Given the description of an element on the screen output the (x, y) to click on. 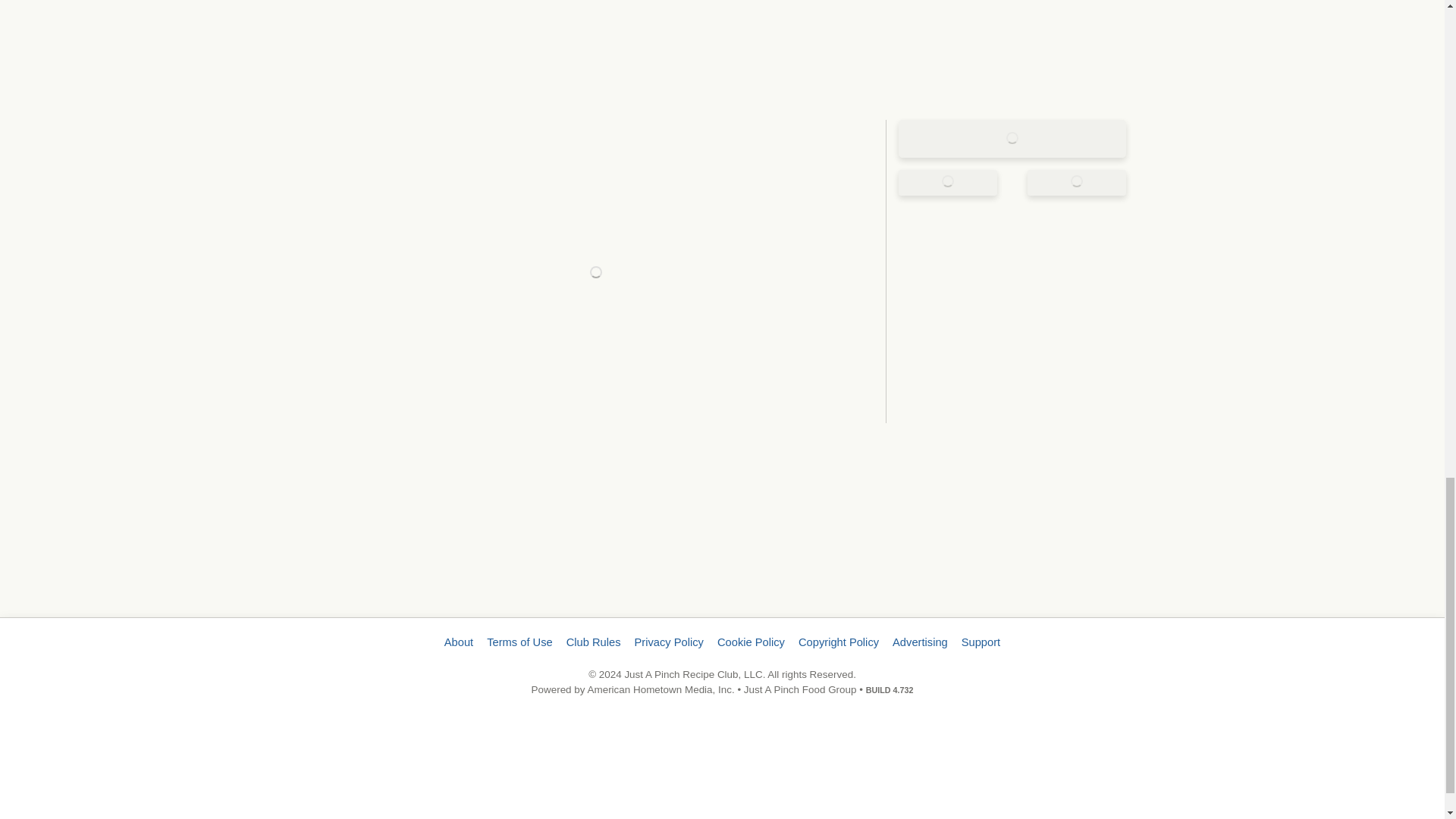
About (459, 641)
Cookie Policy (751, 641)
Privacy Policy (668, 641)
Terms of Use (519, 641)
Club Rules (593, 641)
5 (721, 3)
